Given the description of an element on the screen output the (x, y) to click on. 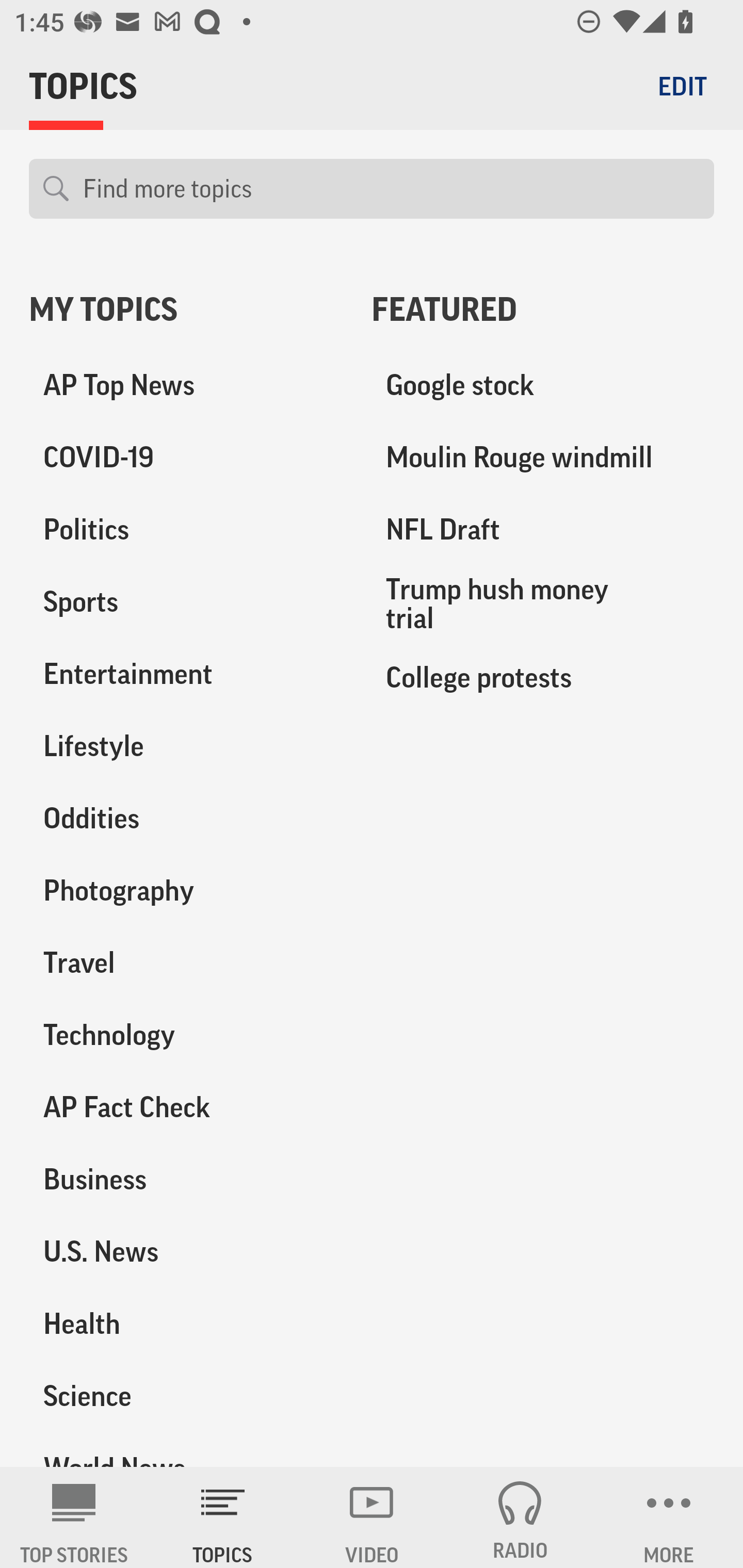
EDIT (682, 86)
Find more topics (391, 188)
AP Top News (185, 385)
Google stock (542, 385)
COVID-19 (185, 457)
Moulin Rouge windmill (542, 457)
Politics (185, 529)
NFL Draft (542, 529)
Sports (185, 602)
Trump hush money trial (542, 603)
Entertainment (185, 674)
College protests (542, 677)
Lifestyle (185, 746)
Oddities (185, 818)
Photography (185, 890)
Travel (185, 962)
Technology (185, 1034)
AP Fact Check (185, 1106)
Business (185, 1179)
U.S. News (185, 1251)
Health (185, 1323)
Science (185, 1395)
AP News TOP STORIES (74, 1517)
TOPICS (222, 1517)
VIDEO (371, 1517)
RADIO (519, 1517)
MORE (668, 1517)
